Given the description of an element on the screen output the (x, y) to click on. 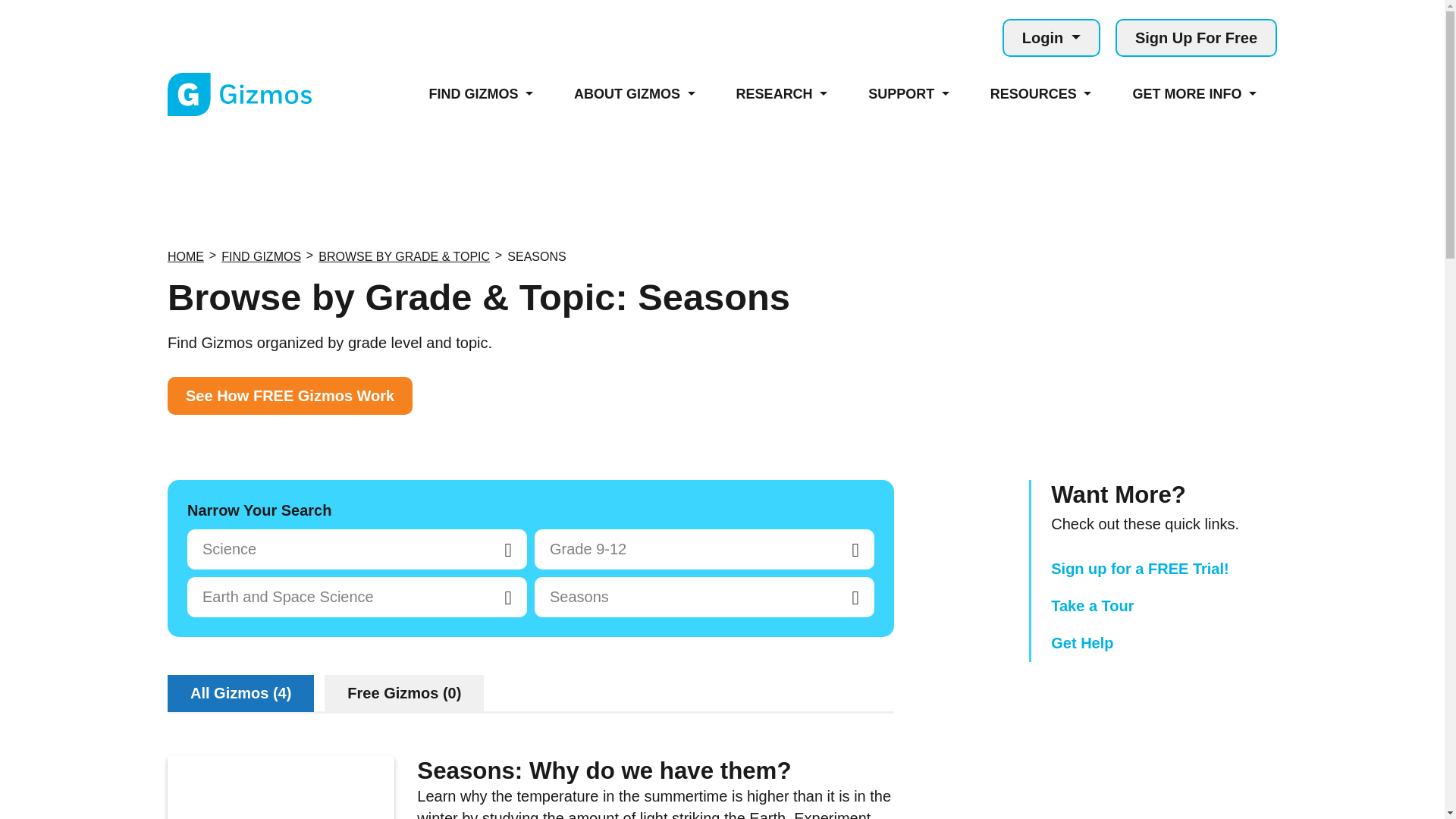
Sign Up For Free (1195, 37)
FIND GIZMOS (480, 93)
RESEARCH (782, 93)
ABOUT GIZMOS (634, 93)
Gizmos home page (239, 94)
RESOURCES (1041, 93)
SUPPORT (908, 93)
